Given the description of an element on the screen output the (x, y) to click on. 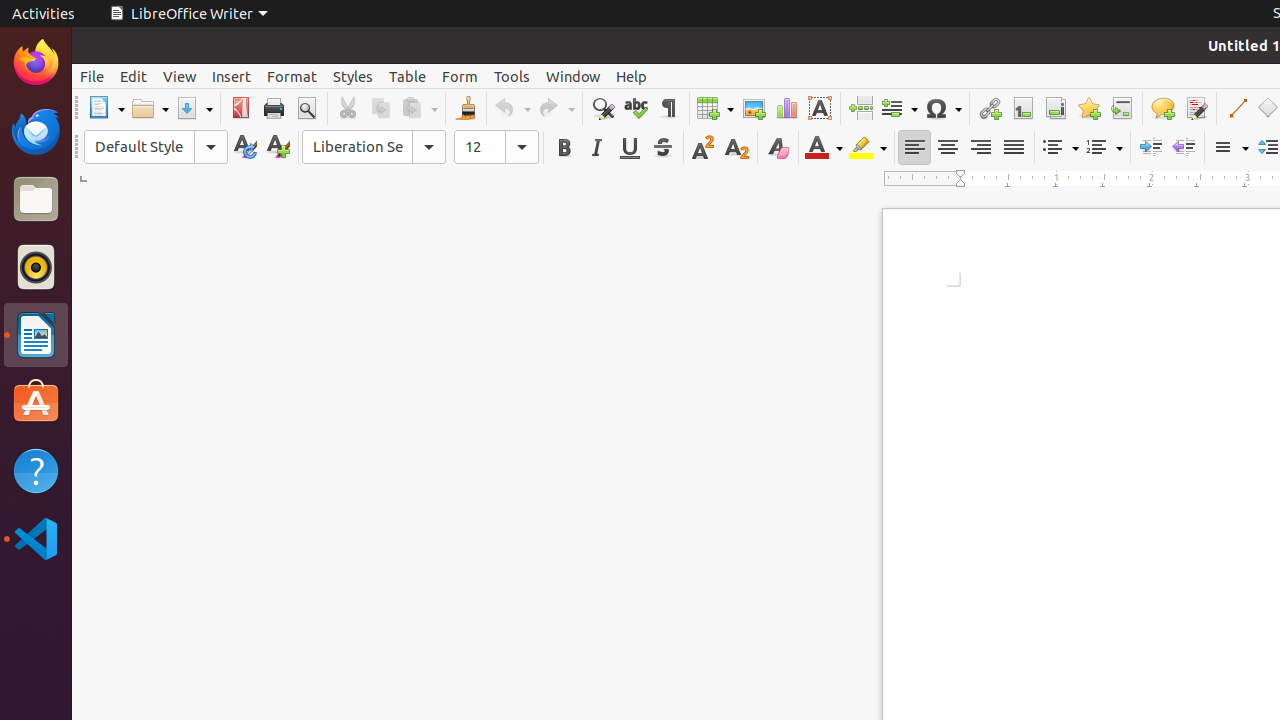
Hyperlink Element type: toggle-button (989, 108)
Paragraph Style Element type: combo-box (156, 147)
Find & Replace Element type: toggle-button (602, 108)
Footnote Element type: push-button (1022, 108)
File Element type: menu (92, 76)
